Given the description of an element on the screen output the (x, y) to click on. 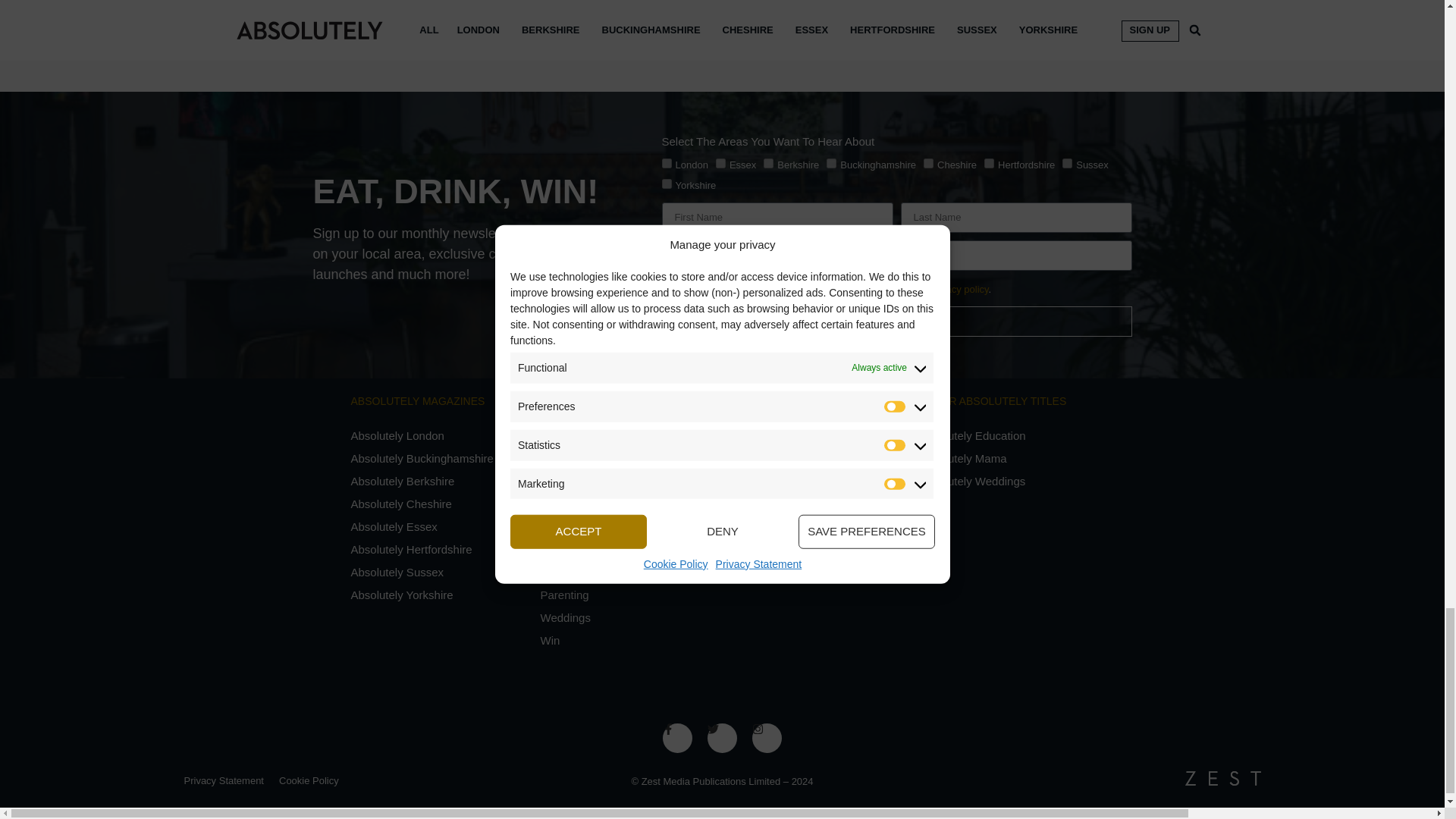
Buckinghamshire (831, 163)
London (666, 163)
Essex (720, 163)
Yorkshire (666, 184)
Hertfordshire (989, 163)
on (666, 287)
Sussex (1066, 163)
Berkshire (767, 163)
Cheshire (928, 163)
